Given the description of an element on the screen output the (x, y) to click on. 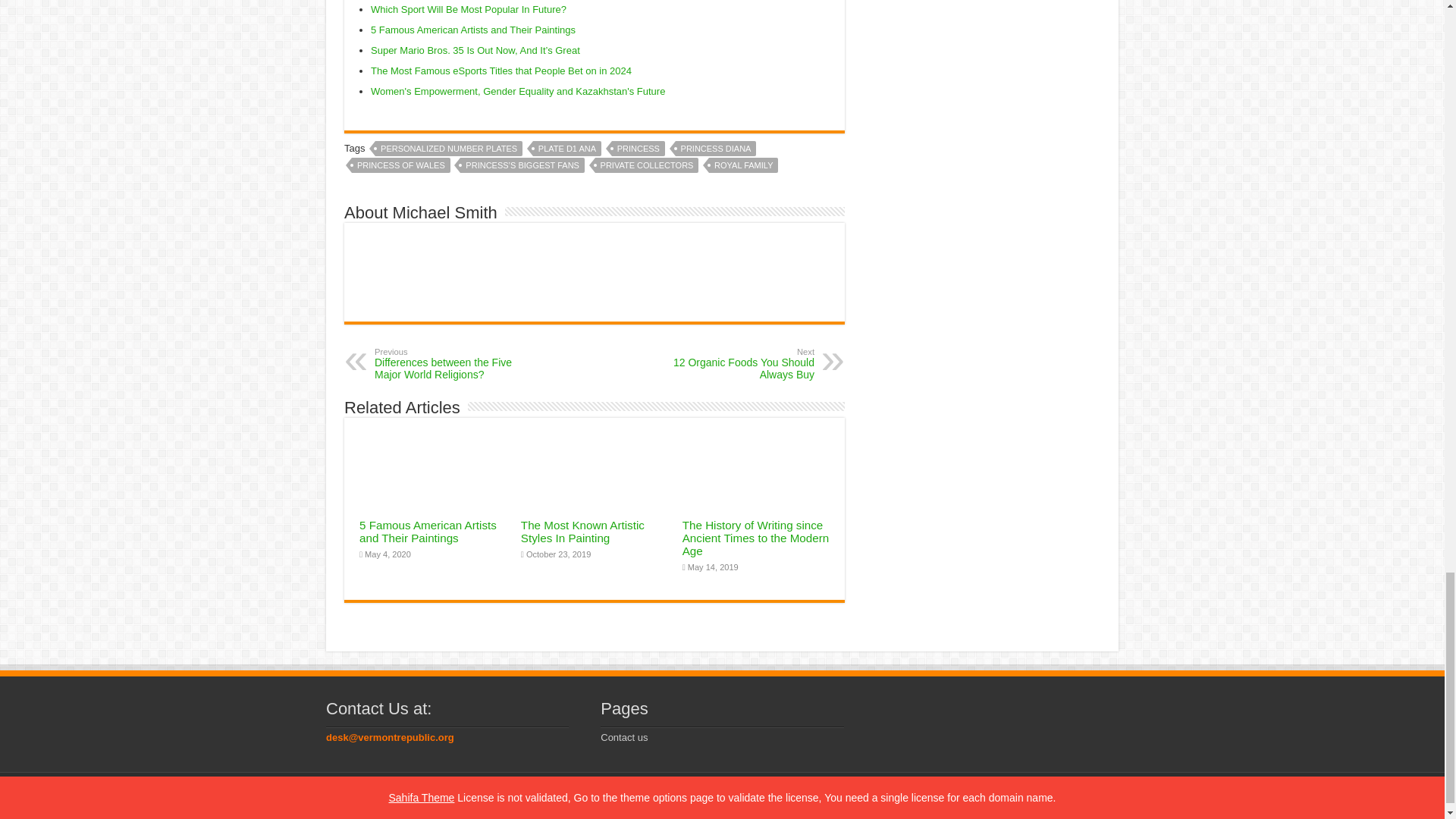
PERSONALIZED NUMBER PLATES (448, 148)
PLATE D1 ANA (566, 148)
The Most Famous eSports Titles that People Bet on in 2024 (501, 70)
ROYAL FAMILY (743, 165)
5 Famous American Artists and Their Paintings (473, 30)
PRIVATE COLLECTORS (646, 165)
PRINCESS DIANA (716, 148)
Women's Empowerment, Gender Equality and Kazakhstan's Future (518, 91)
PRINCESS OF WALES (400, 165)
PRINCESS (638, 148)
Which Sport Will Be Most Popular In Future? (468, 9)
